Given the description of an element on the screen output the (x, y) to click on. 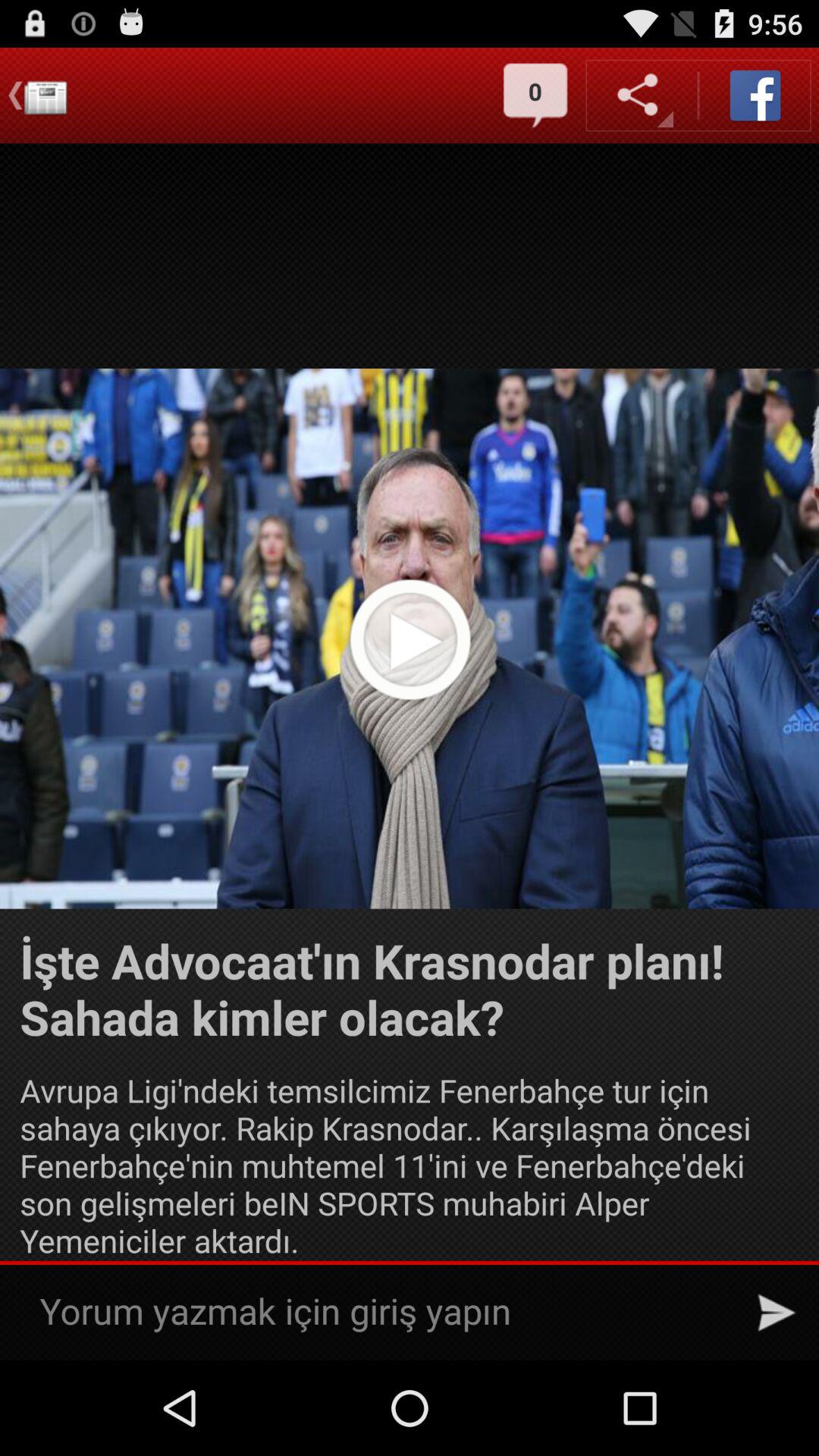
select the avrupa ligi ndeki item (409, 1164)
